Given the description of an element on the screen output the (x, y) to click on. 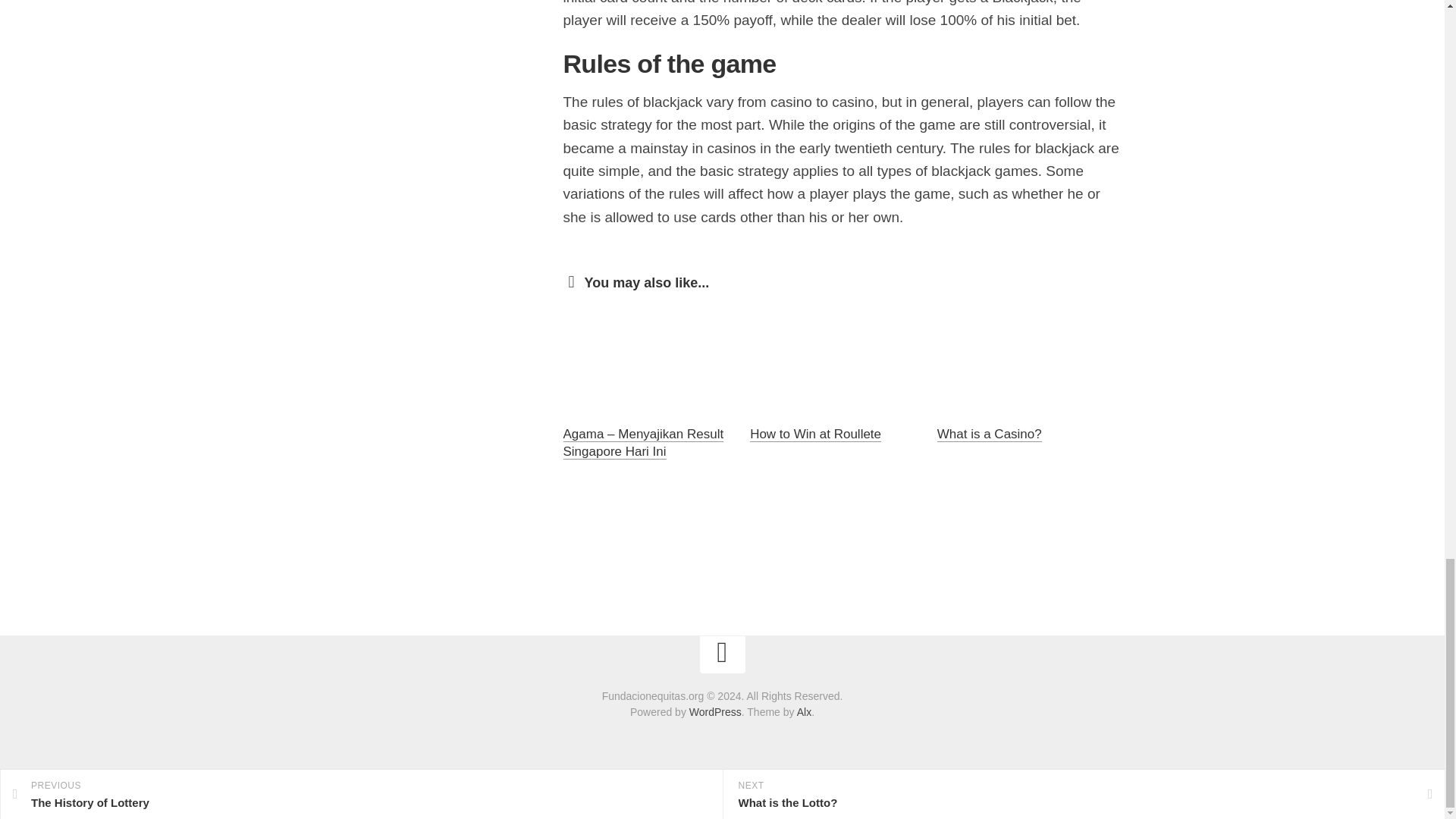
What is a Casino? (989, 433)
How to Win at Roullete (814, 433)
